Given the description of an element on the screen output the (x, y) to click on. 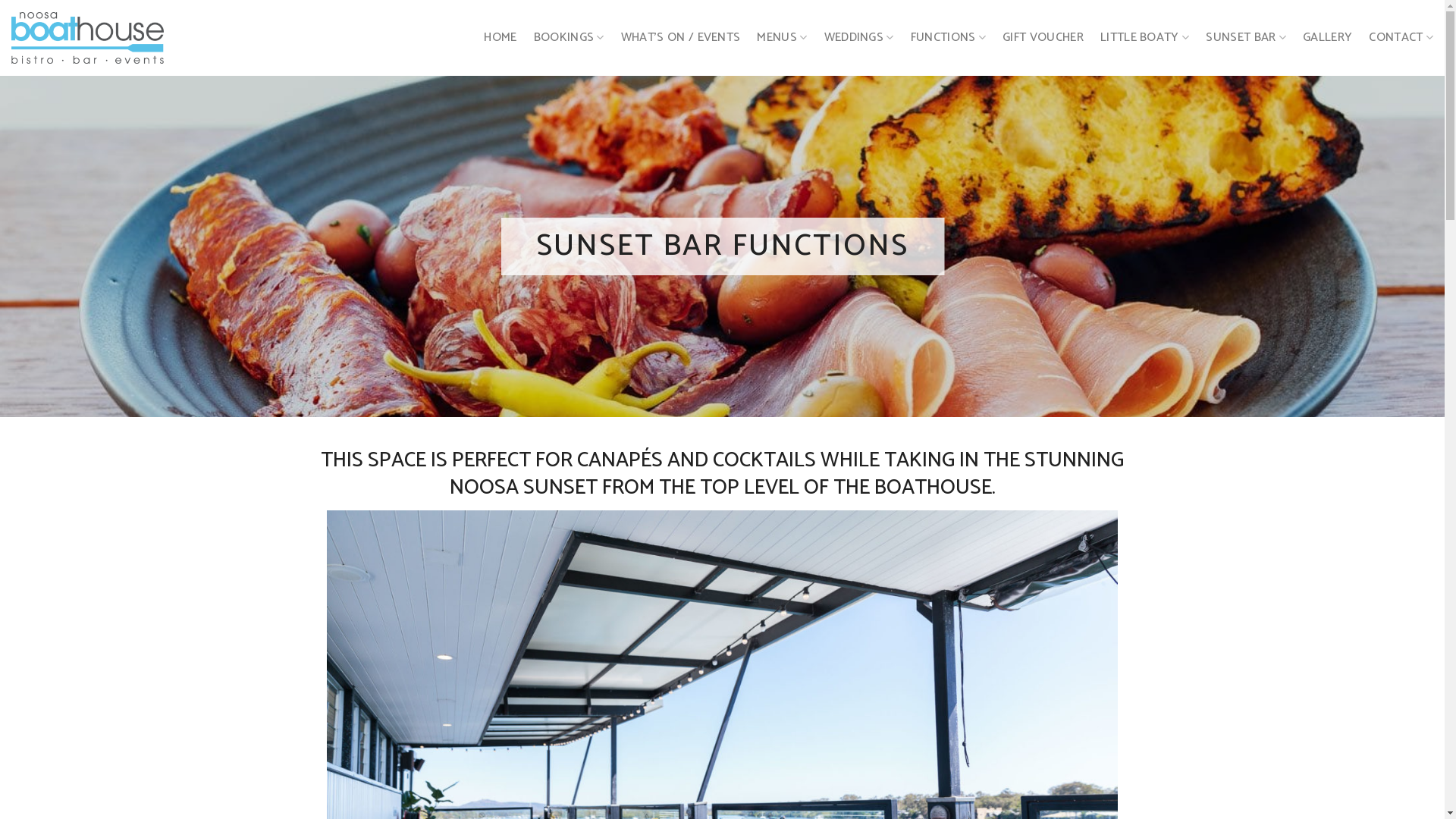
BOOKINGS Element type: text (568, 37)
FUNCTIONS Element type: text (947, 37)
LITTLE BOATY Element type: text (1144, 37)
GALLERY Element type: text (1327, 37)
SUNSET BAR Element type: text (1245, 37)
Noosa Boathouse . Bistro . Bar . Events Element type: hover (87, 38)
Skip to content Element type: text (0, 0)
HOME Element type: text (499, 37)
WEDDINGS Element type: text (859, 37)
MENUS Element type: text (781, 37)
CONTACT Element type: text (1400, 37)
GIFT VOUCHER Element type: text (1042, 37)
